Given the description of an element on the screen output the (x, y) to click on. 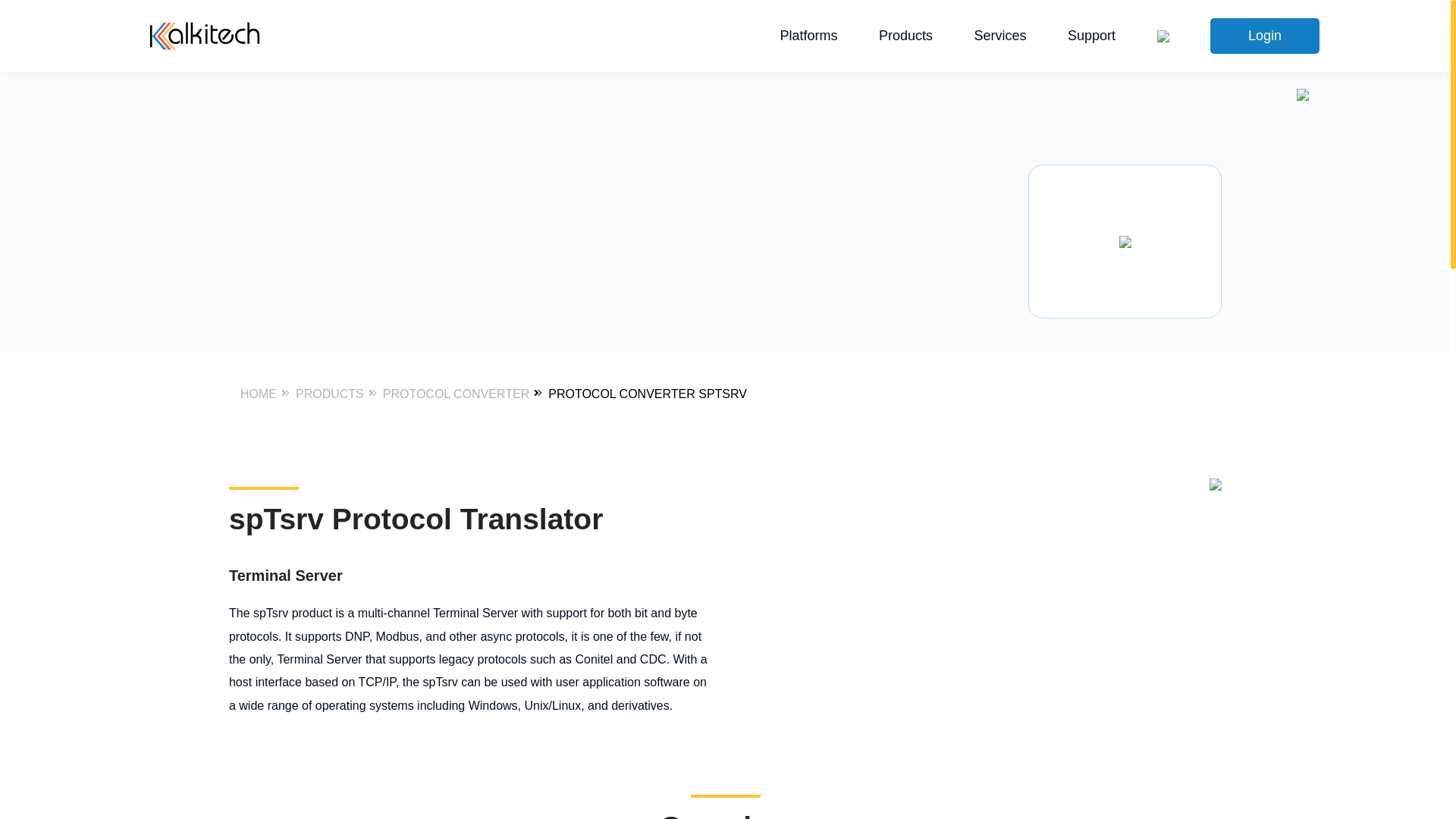
Platforms (809, 36)
Products (906, 36)
Kalkitech (205, 35)
